Given the description of an element on the screen output the (x, y) to click on. 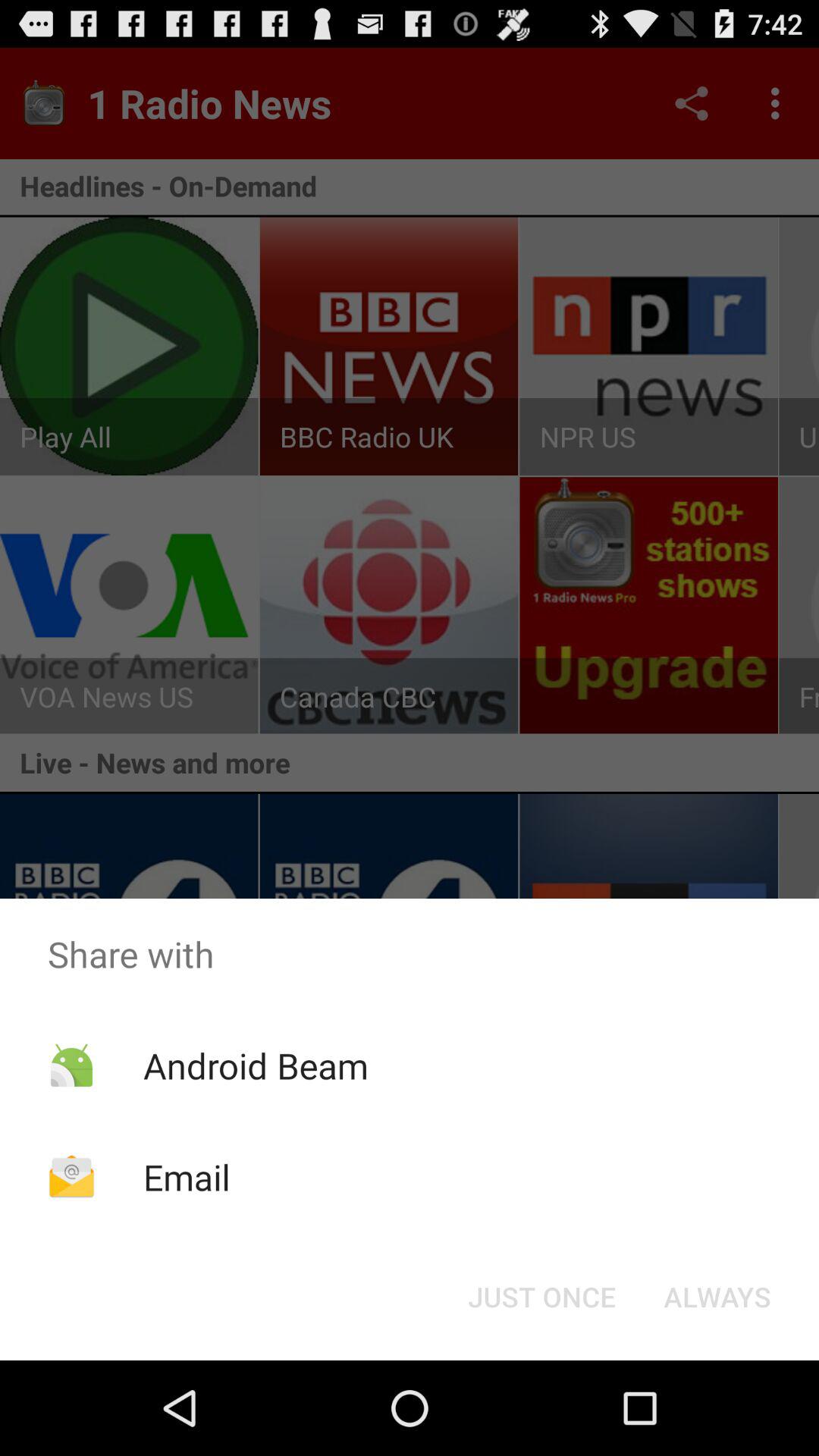
open the item above the email app (255, 1065)
